Given the description of an element on the screen output the (x, y) to click on. 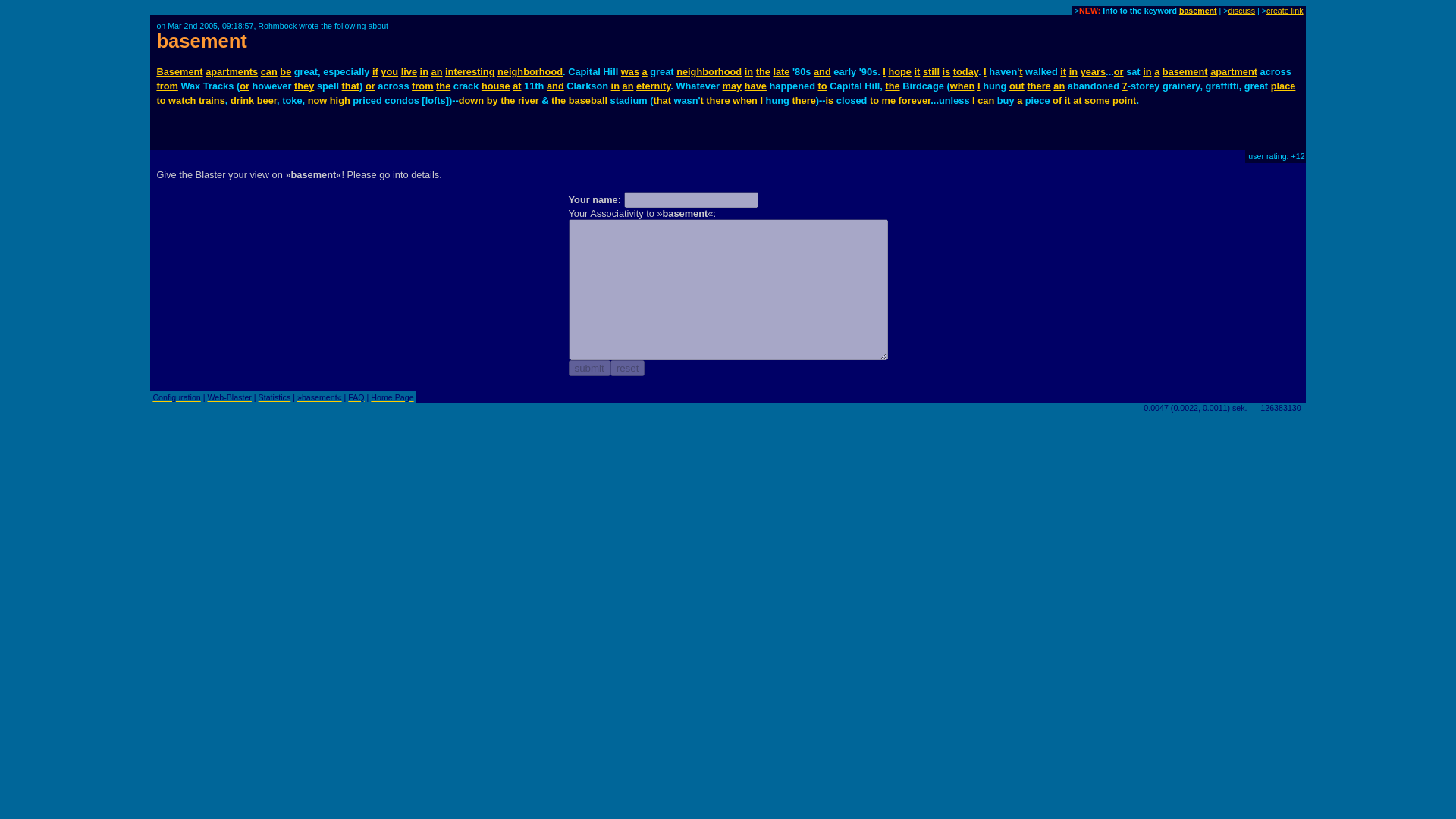
interesting (470, 71)
and (822, 71)
hope (899, 71)
still (931, 71)
Basement (178, 71)
from (166, 85)
apartments (231, 71)
create link (1284, 10)
years (1092, 71)
basement (1198, 10)
